Given the description of an element on the screen output the (x, y) to click on. 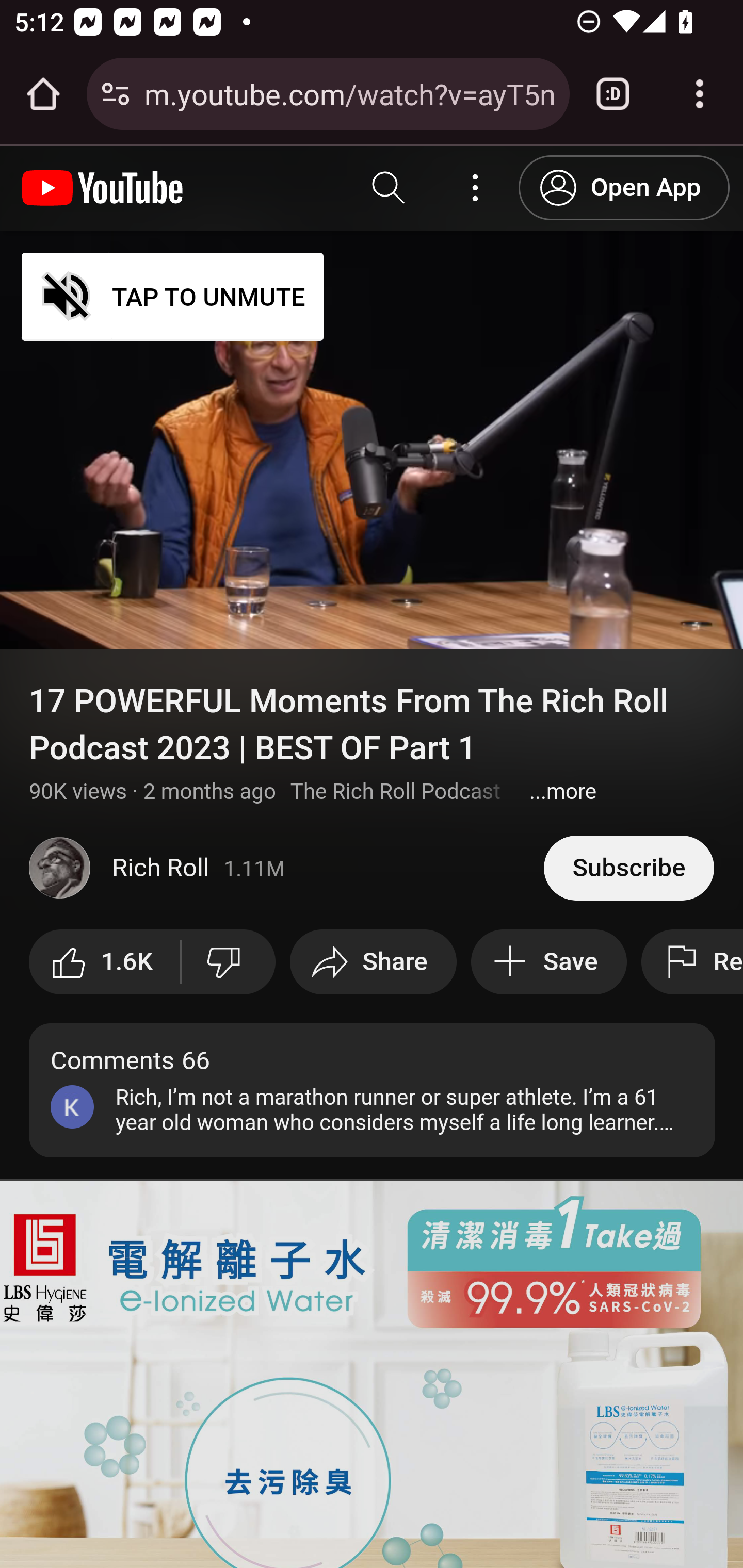
Open the home page (43, 93)
Connection is secure (115, 93)
Switch or close tabs (612, 93)
Customize and control Google Chrome (699, 93)
m.youtube.com/watch?v=ayT5nBQ82PA (349, 92)
YouTube (102, 188)
Search YouTube (388, 188)
Account (475, 188)
Open App (624, 187)
TAP TO UNMUTE (173, 296)
Show more (562, 790)
The Rich Roll Podcast (395, 790)
Subscribe to Rich Roll. (627, 867)
Rich Roll (286, 867)
like this video along with 1,650 other people (105, 961)
Dislike this video (228, 961)
Share (372, 961)
Save to playlist (548, 961)
Report (690, 961)
Comments (372, 1089)
